Given the description of an element on the screen output the (x, y) to click on. 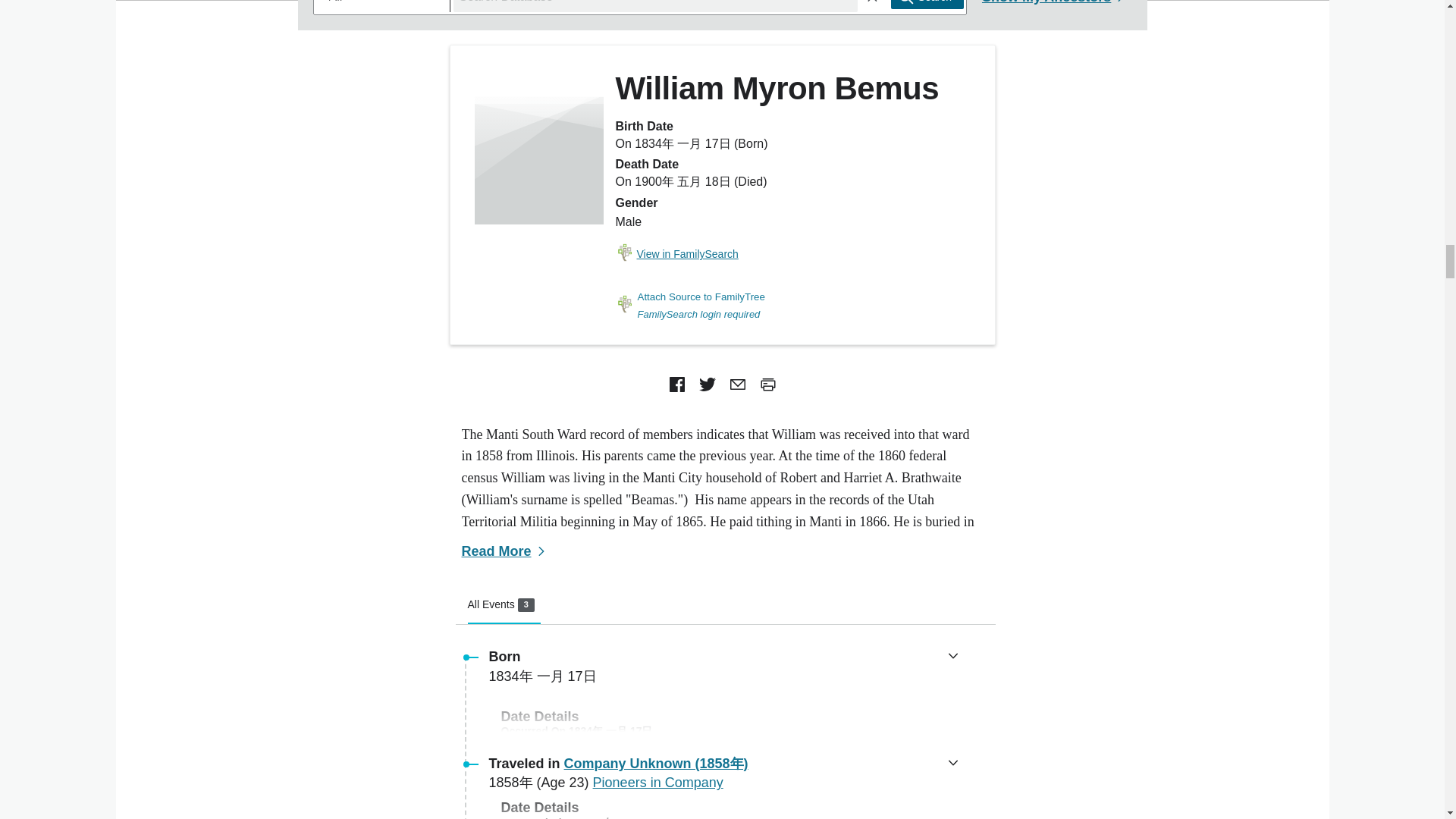
Search (927, 4)
Read More (504, 551)
Pioneers in Company (503, 604)
View in FamilySearch (657, 782)
Show My Ancestors (676, 254)
